Given the description of an element on the screen output the (x, y) to click on. 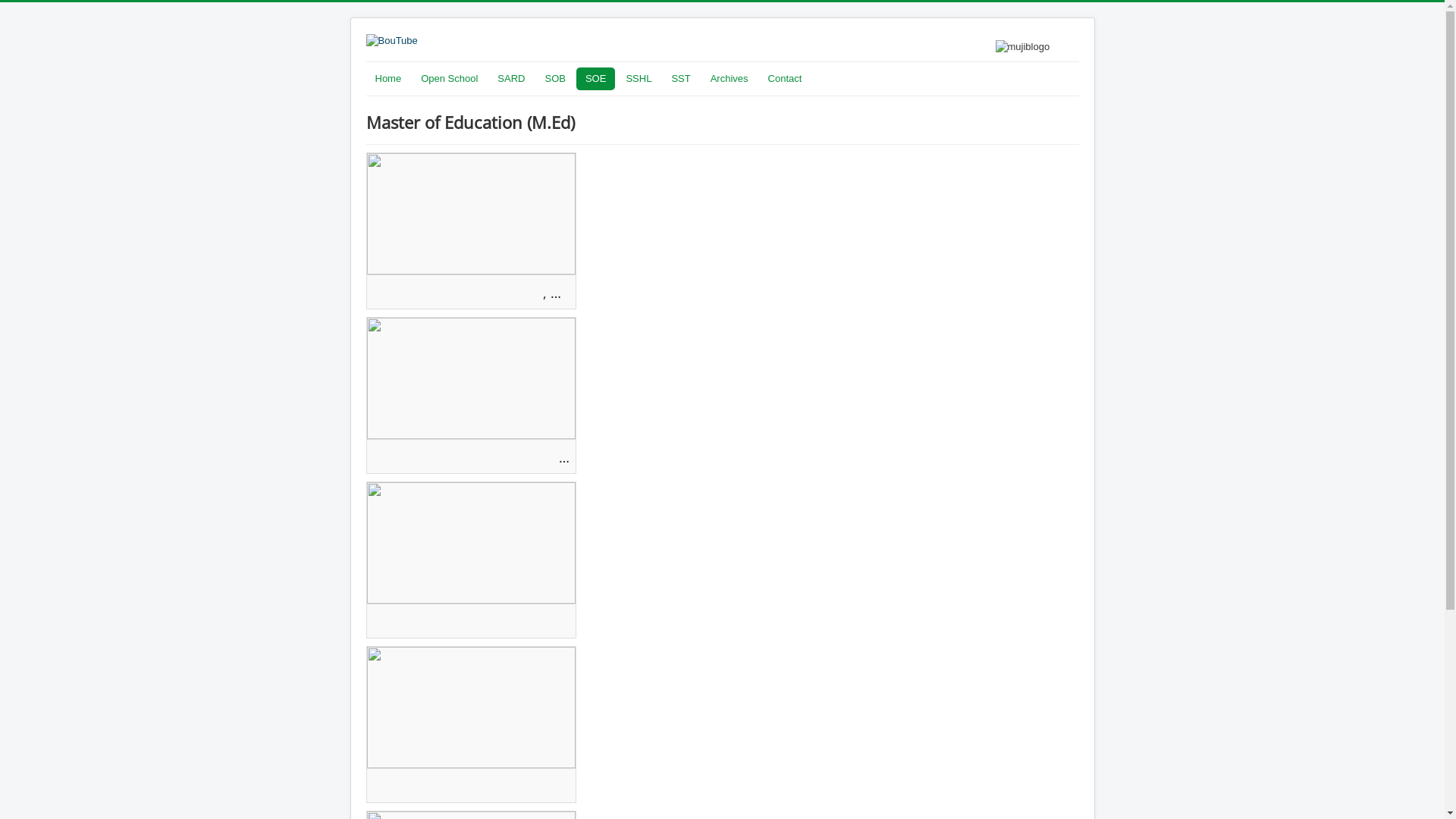
Home Element type: text (387, 78)
SSHL Element type: text (638, 78)
Open School Element type: text (448, 78)
Contact Element type: text (785, 78)
SARD Element type: text (510, 78)
SOB Element type: text (554, 78)
Archives Element type: text (729, 78)
SOE Element type: text (595, 78)
SST Element type: text (680, 78)
